Given the description of an element on the screen output the (x, y) to click on. 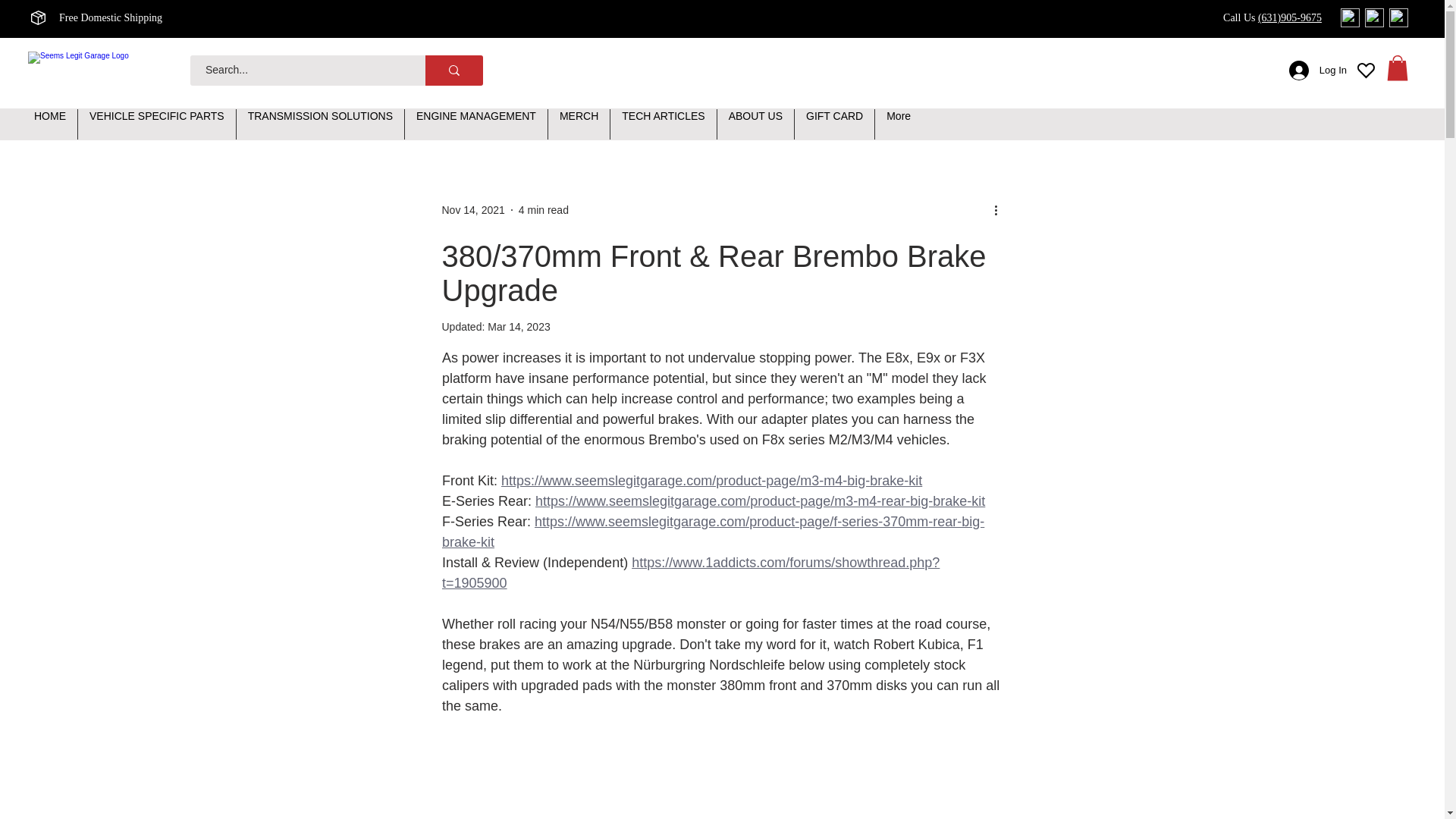
ENGINE MANAGEMENT (475, 123)
TECH ARTICLES (663, 123)
HOME (50, 123)
GIFT CARD (834, 123)
MERCH (579, 123)
Log In (1317, 70)
Nov 14, 2021 (472, 209)
4 min read (543, 209)
Mar 14, 2023 (518, 326)
TRANSMISSION SOLUTIONS (319, 123)
